Given the description of an element on the screen output the (x, y) to click on. 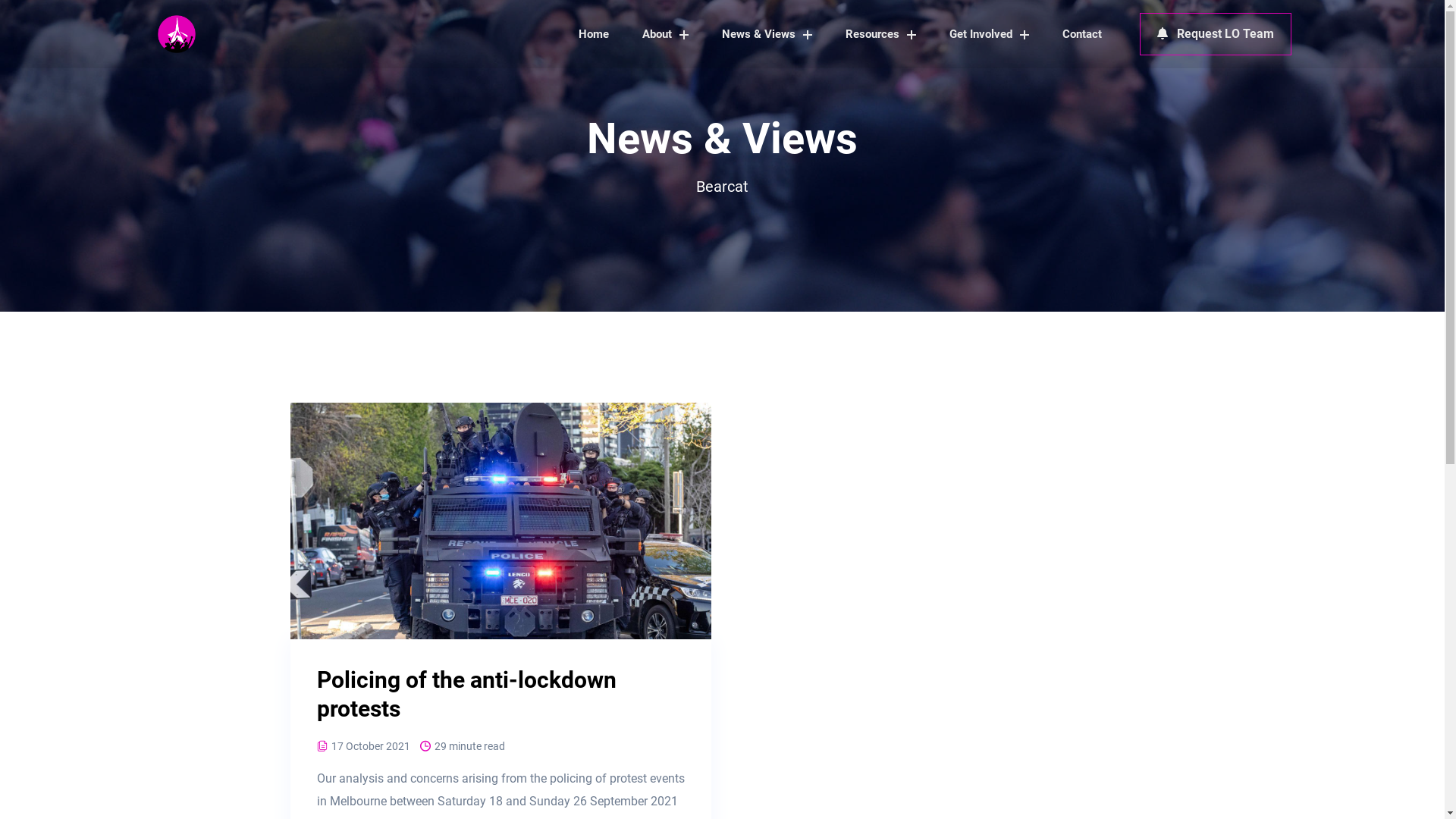
Post publish date Element type: hover (321, 746)
News & Views Element type: text (766, 33)
   Request LO Team Element type: text (1214, 33)
Get Involved Element type: text (989, 33)
Contact Element type: text (1081, 33)
Resources Element type: text (879, 33)
readtime Element type: hover (425, 746)
Home Element type: text (592, 33)
Policing of the anti-lockdown protests Element type: text (466, 693)
About Element type: text (664, 33)
